Given the description of an element on the screen output the (x, y) to click on. 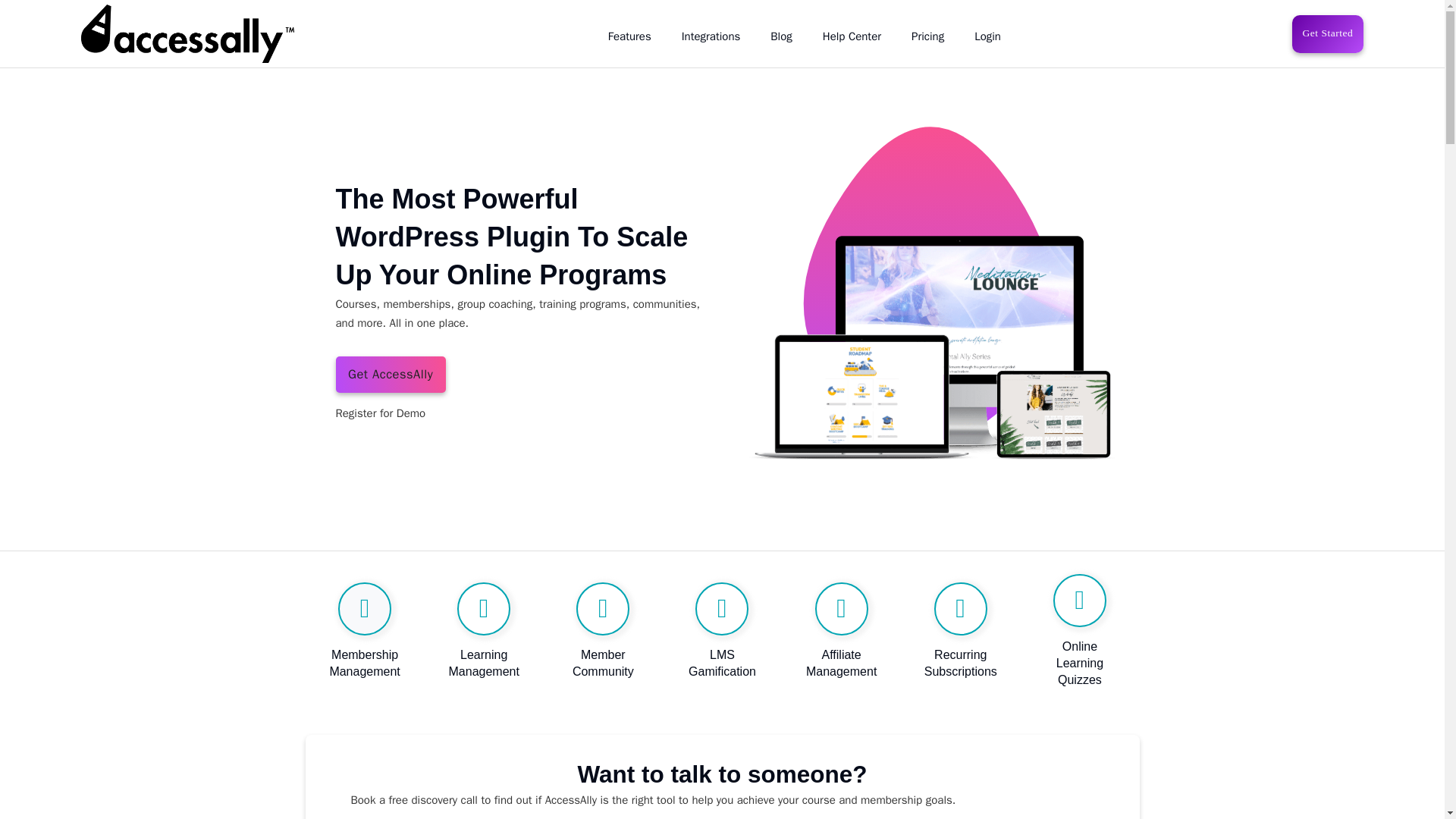
AccessAlly Logo: Go back to home page - AccessAlly (187, 33)
Pricing (927, 36)
Login (987, 36)
Blog (781, 36)
Features (629, 36)
Help Center (851, 36)
Register for Demo (379, 414)
Get AccessAlly (389, 374)
Integrations (711, 36)
